Given the description of an element on the screen output the (x, y) to click on. 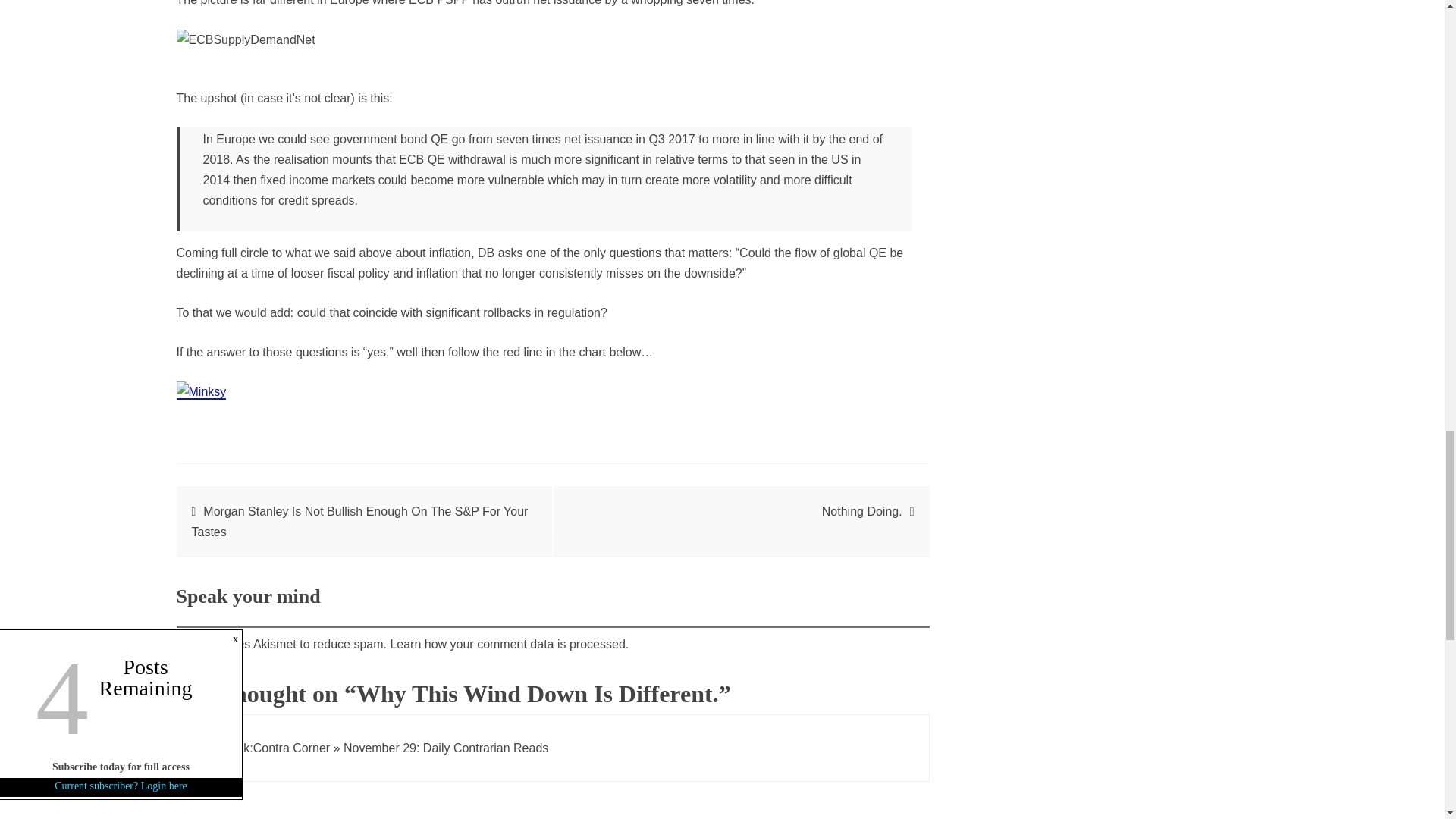
Learn how your comment data is processed (507, 644)
Nothing Doing. (862, 511)
